Given the description of an element on the screen output the (x, y) to click on. 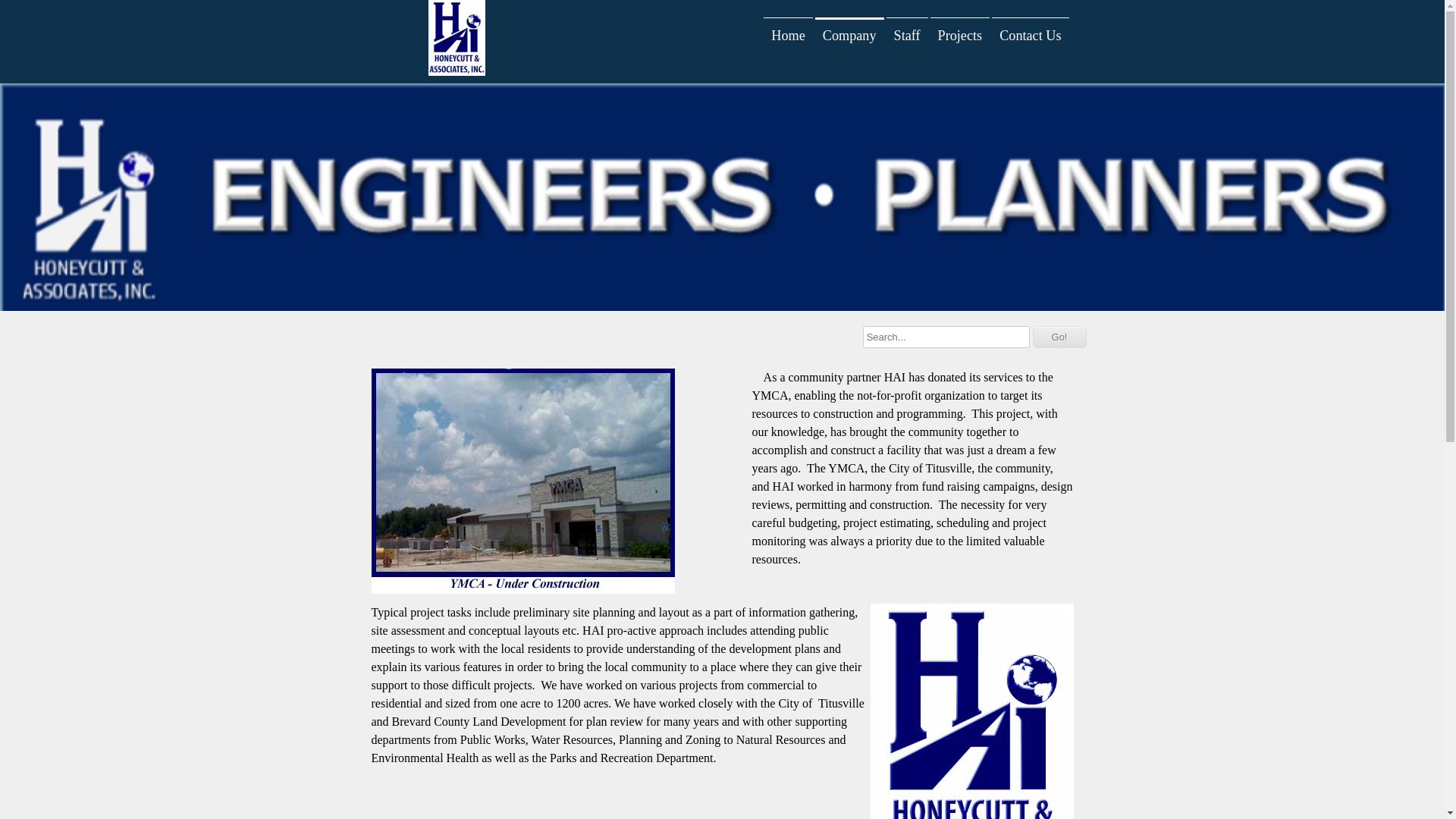
Staff Element type: text (907, 35)
Projects Element type: text (960, 35)
Contact Us Element type: text (1029, 35)
Home Element type: text (787, 35)
Go! Element type: text (1059, 337)
Company Element type: text (849, 35)
